Given the description of an element on the screen output the (x, y) to click on. 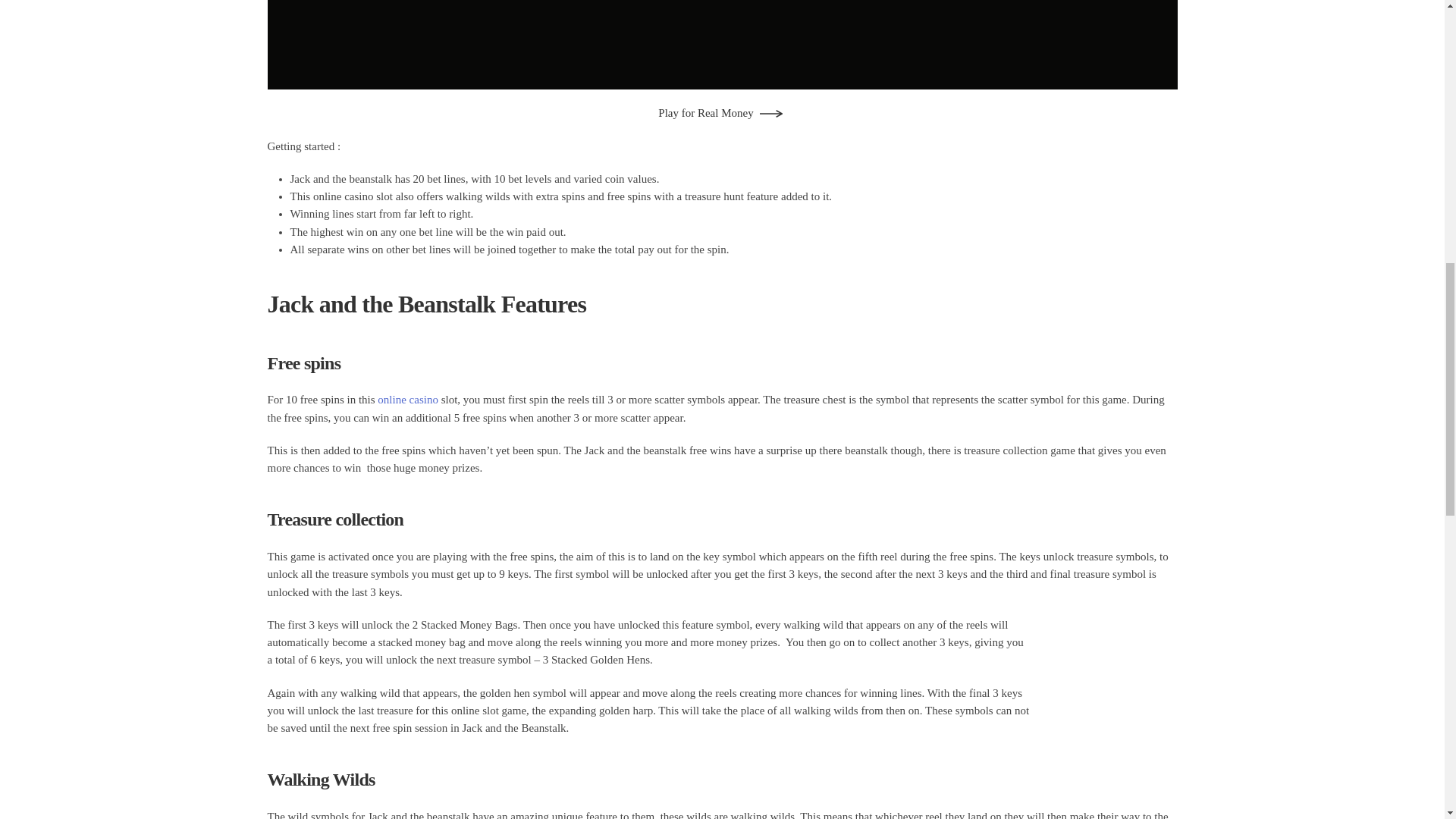
Online Casino (407, 399)
jack and the beanstalk chest (1108, 686)
